Given the description of an element on the screen output the (x, y) to click on. 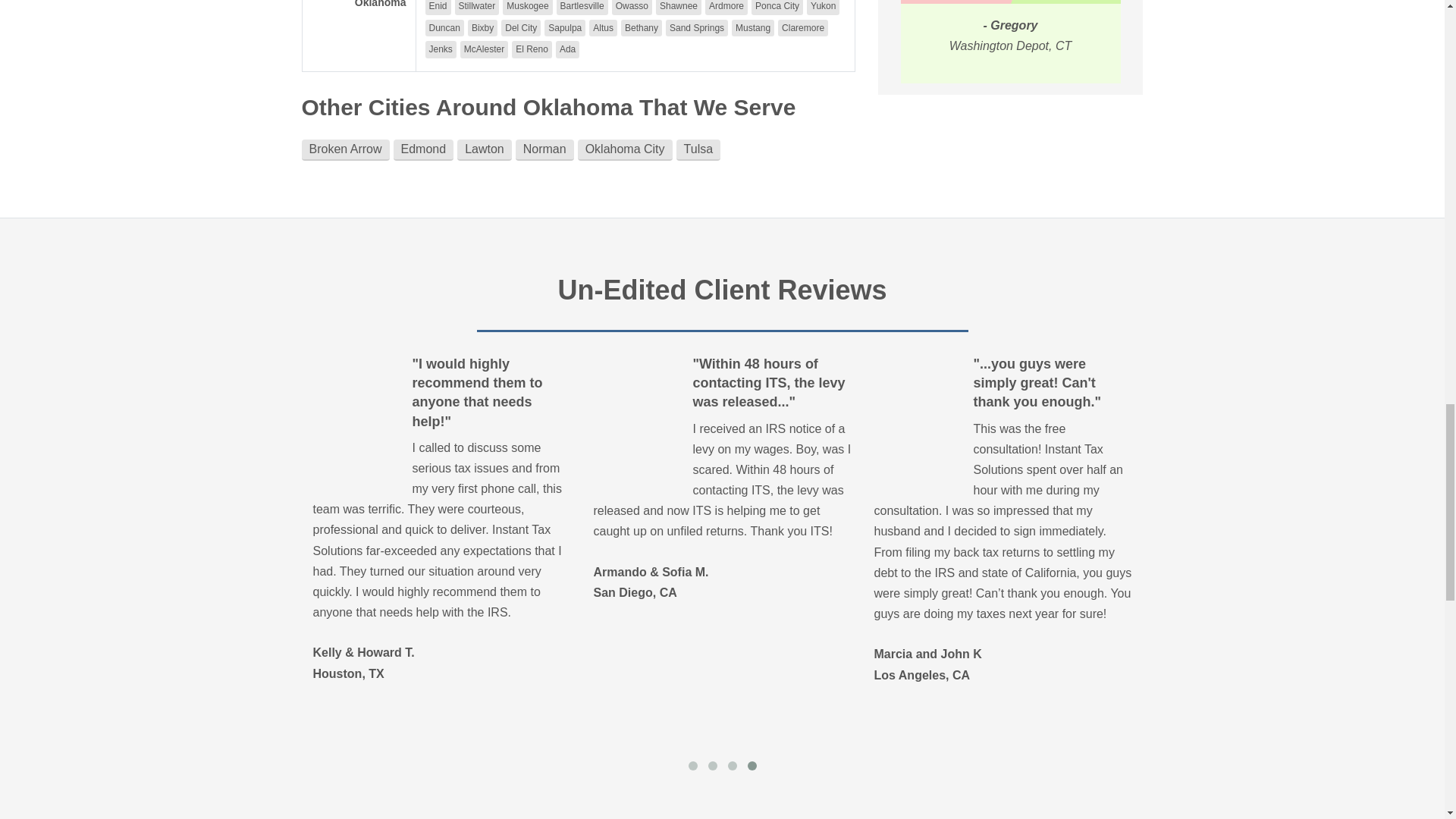
Edmond (423, 149)
Oklahoma City (625, 149)
Broken Arrow (345, 149)
Norman (544, 149)
Tulsa (698, 149)
Lawton (484, 149)
